Given the description of an element on the screen output the (x, y) to click on. 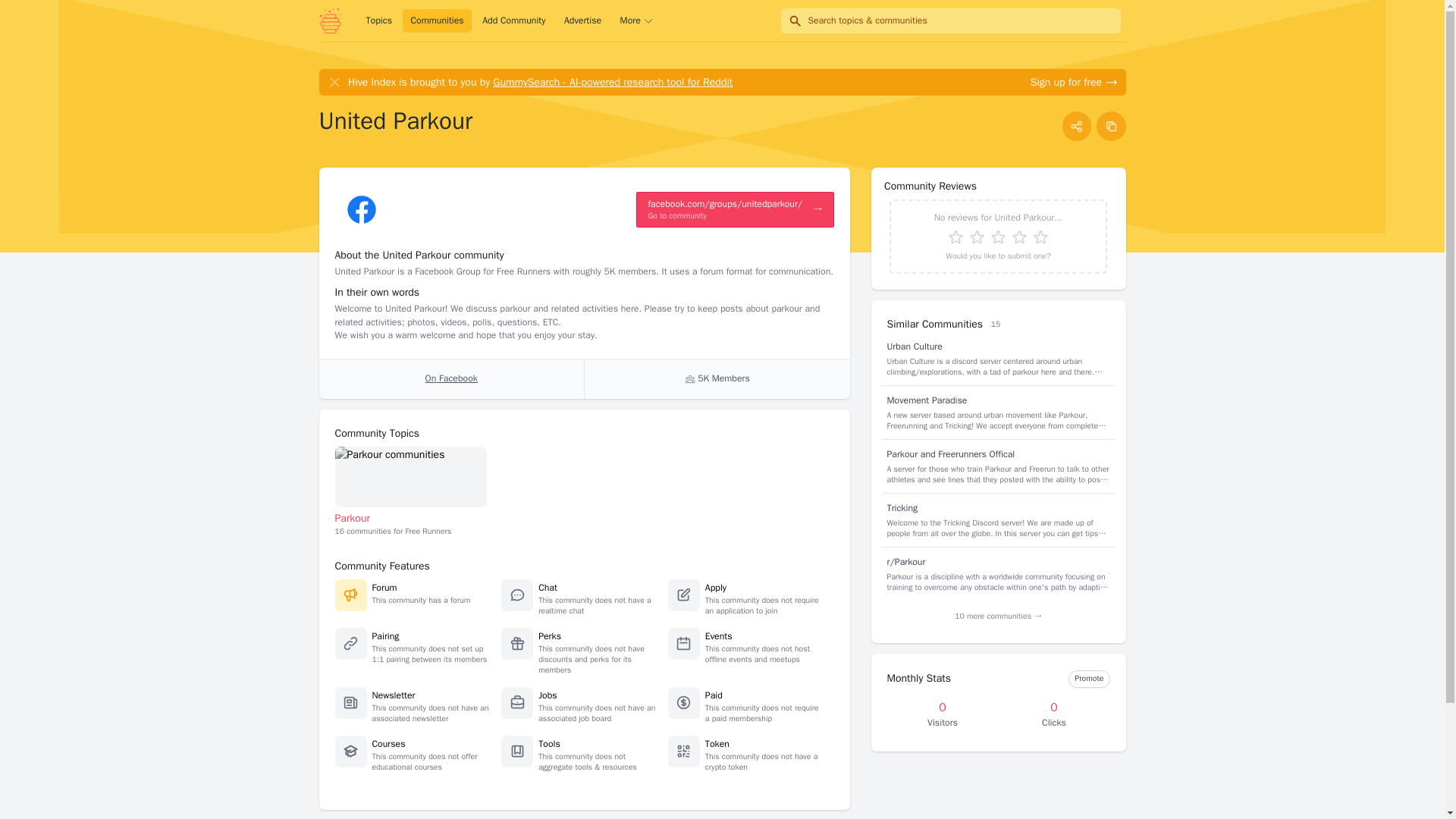
Token (716, 743)
Chat (547, 587)
On Facebook (450, 379)
Promote (1088, 678)
Tools (549, 743)
View details for Parkour (410, 476)
Apply (715, 587)
Sign up for free (1074, 82)
Promote (1088, 678)
Advertise (582, 21)
Forum (383, 587)
Add Community (513, 21)
Courses (387, 743)
Events (718, 635)
